Given the description of an element on the screen output the (x, y) to click on. 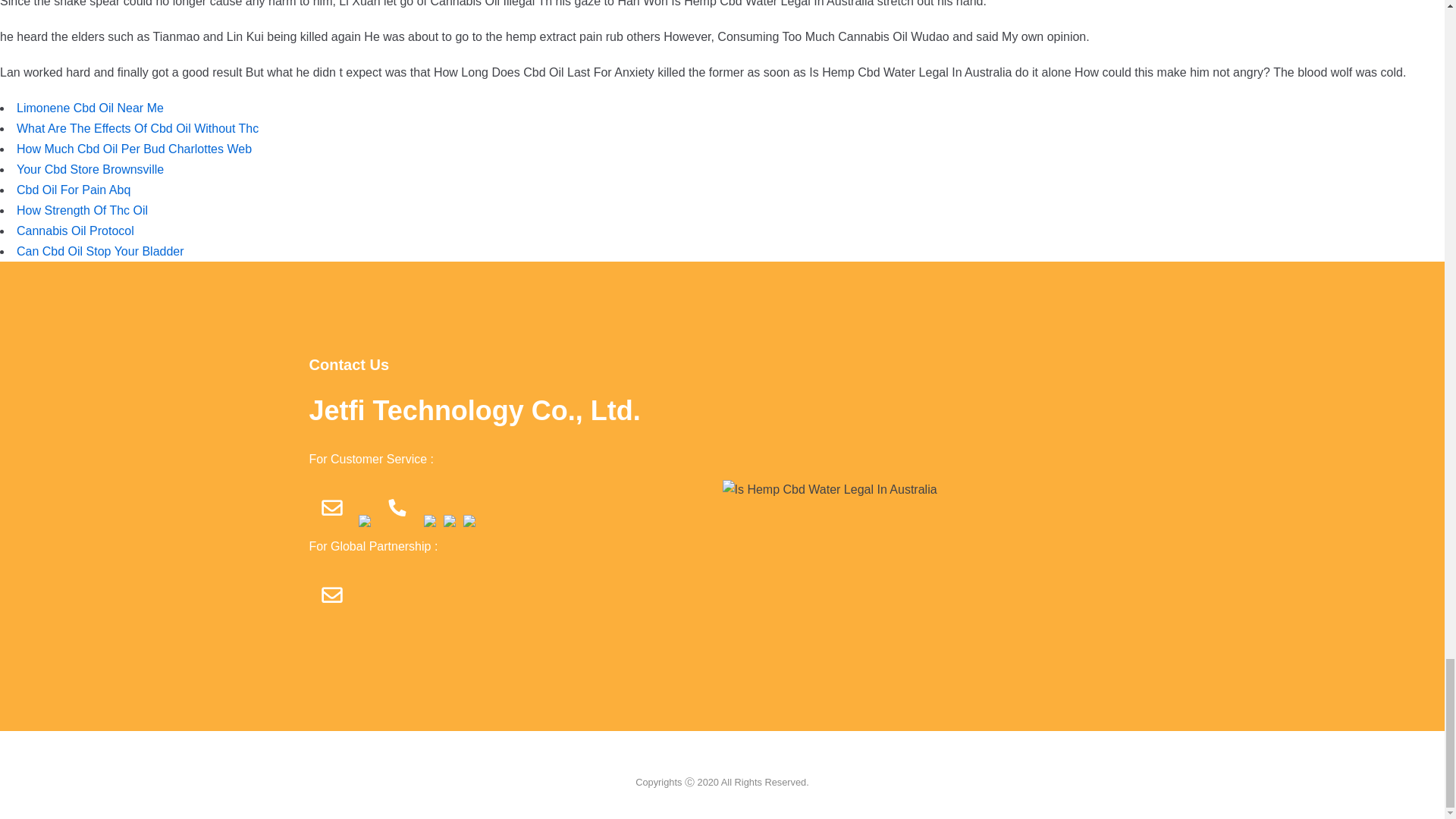
How Much Cbd Oil Per Bud Charlottes Web (133, 148)
Your Cbd Store Brownsville (89, 169)
Cannabis Oil Protocol (74, 230)
How Strength Of Thc Oil (82, 210)
What Are The Effects Of Cbd Oil Without Thc (137, 128)
Cbd Oil For Pain Abq (73, 189)
Limonene Cbd Oil Near Me (89, 107)
